Given the description of an element on the screen output the (x, y) to click on. 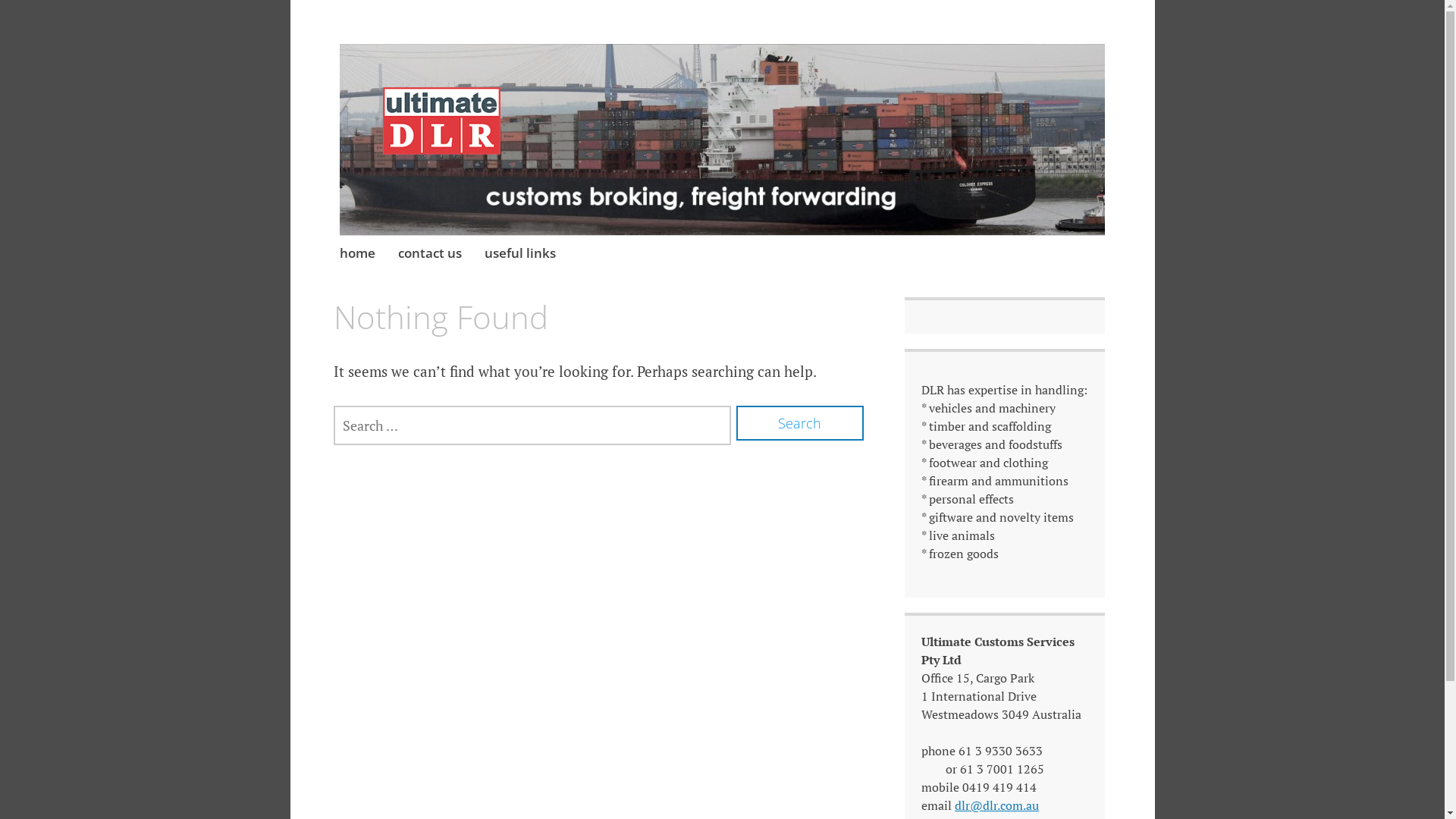
Skip to content Element type: text (338, 236)
useful links Element type: text (519, 253)
contact us Element type: text (429, 253)
home Element type: text (357, 253)
Search Element type: text (799, 422)
dlr@dlr.com.au Element type: text (996, 805)
